Given the description of an element on the screen output the (x, y) to click on. 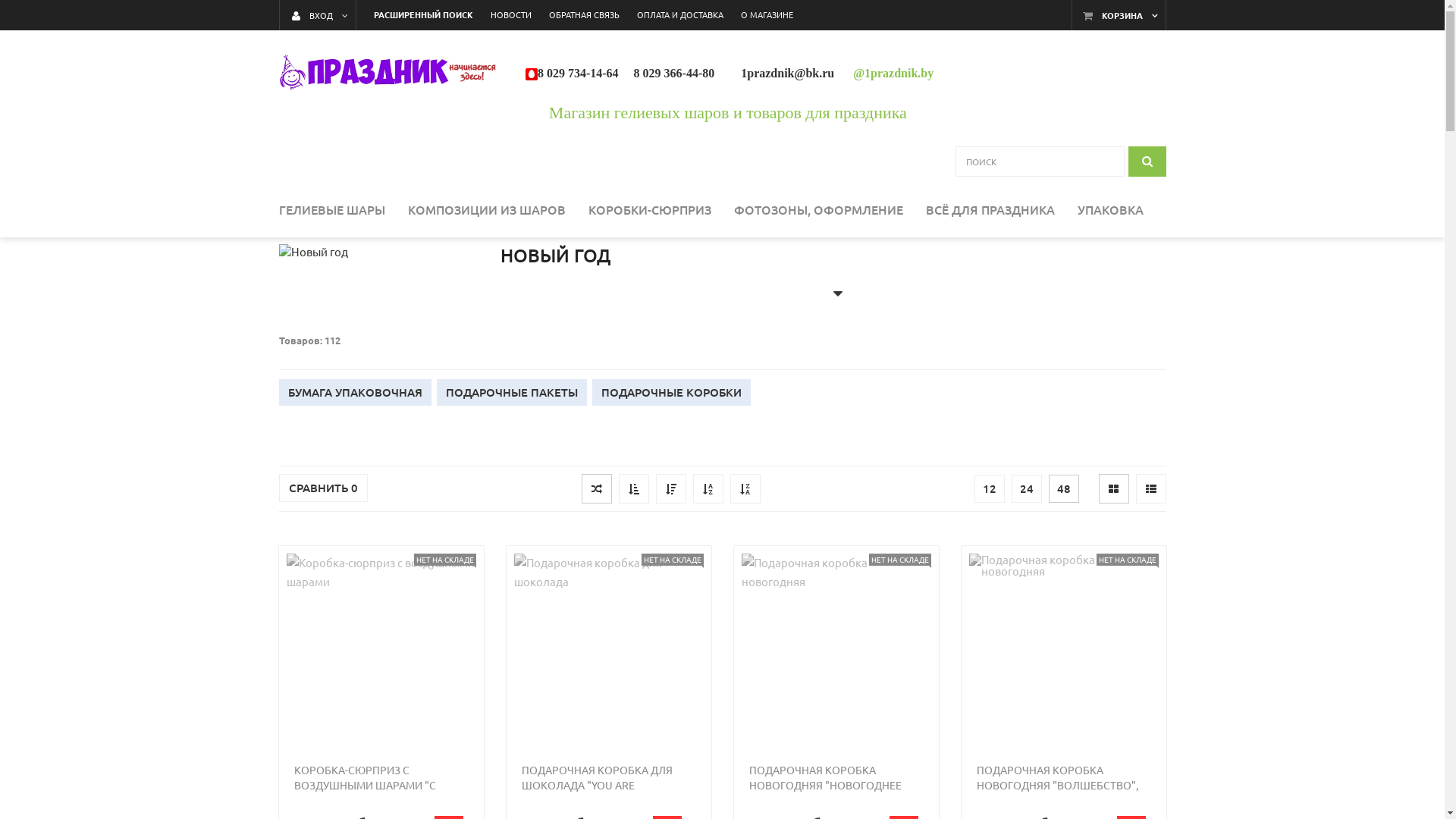
24 Element type: text (1026, 488)
12 Element type: text (988, 488)
@1prazdnik.by Element type: text (893, 72)
48 Element type: text (1063, 488)
